Given the description of an element on the screen output the (x, y) to click on. 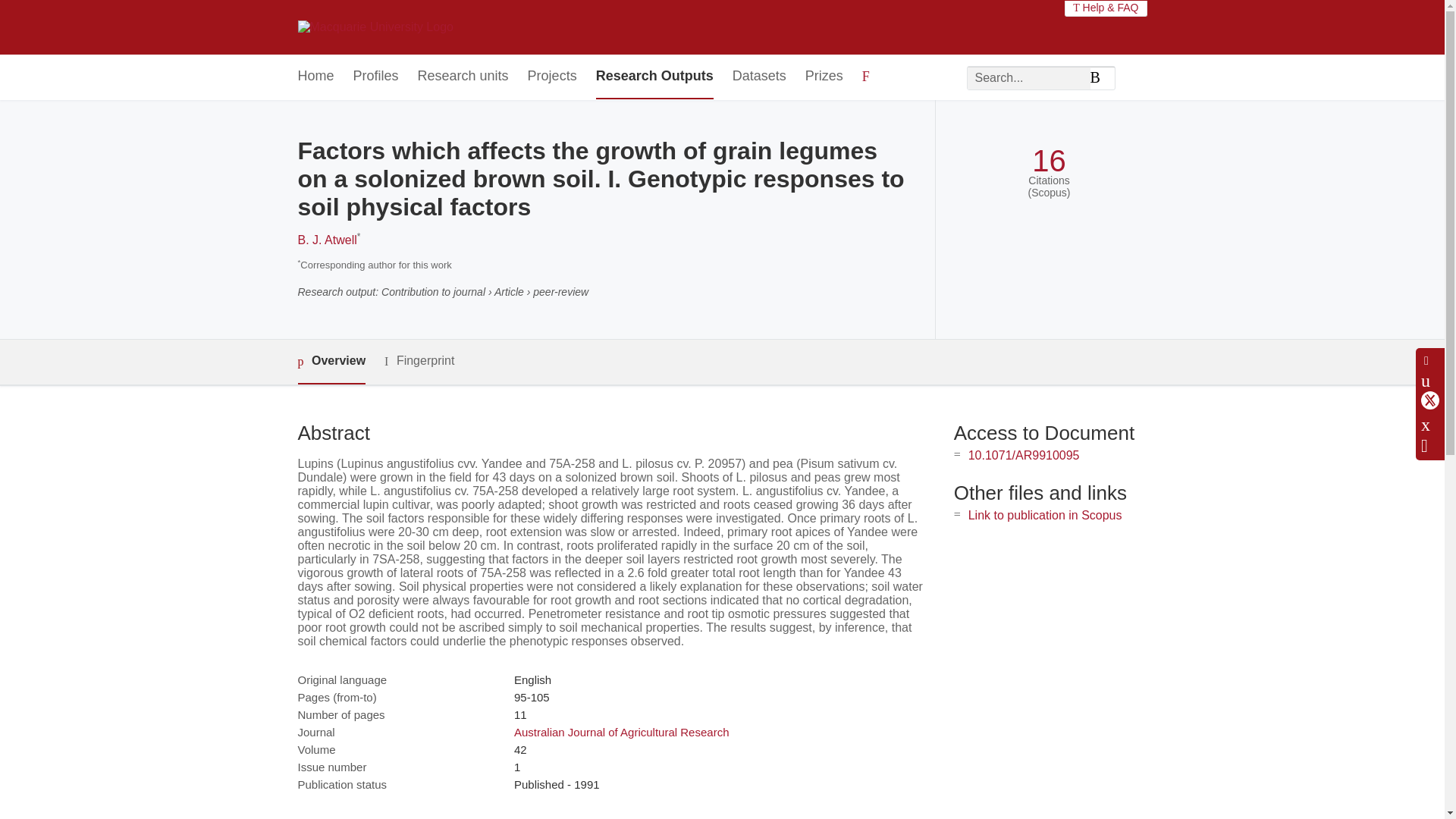
Macquarie University Home (374, 27)
16 (1048, 161)
Australian Journal of Agricultural Research (621, 731)
B. J. Atwell (326, 239)
Projects (551, 76)
Overview (331, 361)
Research Outputs (654, 76)
Link to publication in Scopus (1045, 514)
Fingerprint (419, 361)
